Given the description of an element on the screen output the (x, y) to click on. 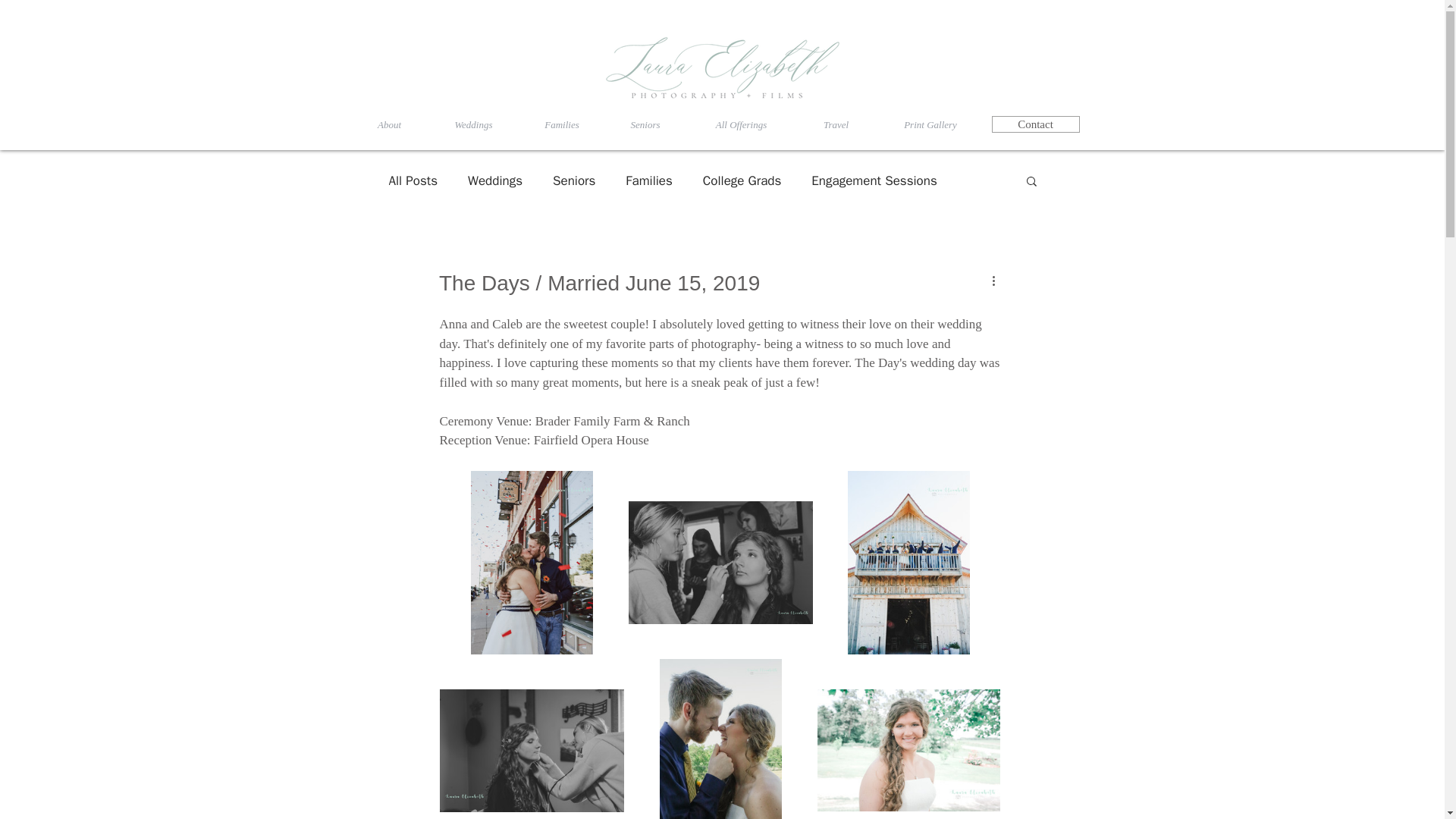
Families (648, 180)
Families (561, 124)
Weddings (473, 124)
Print Gallery (930, 124)
Seniors (574, 180)
Engagement Sessions (873, 180)
All Offerings (740, 124)
Weddings (494, 180)
Seniors (645, 124)
All Posts (413, 180)
College Grads (742, 180)
Travel (835, 124)
Contact (1035, 124)
About (389, 124)
